Given the description of an element on the screen output the (x, y) to click on. 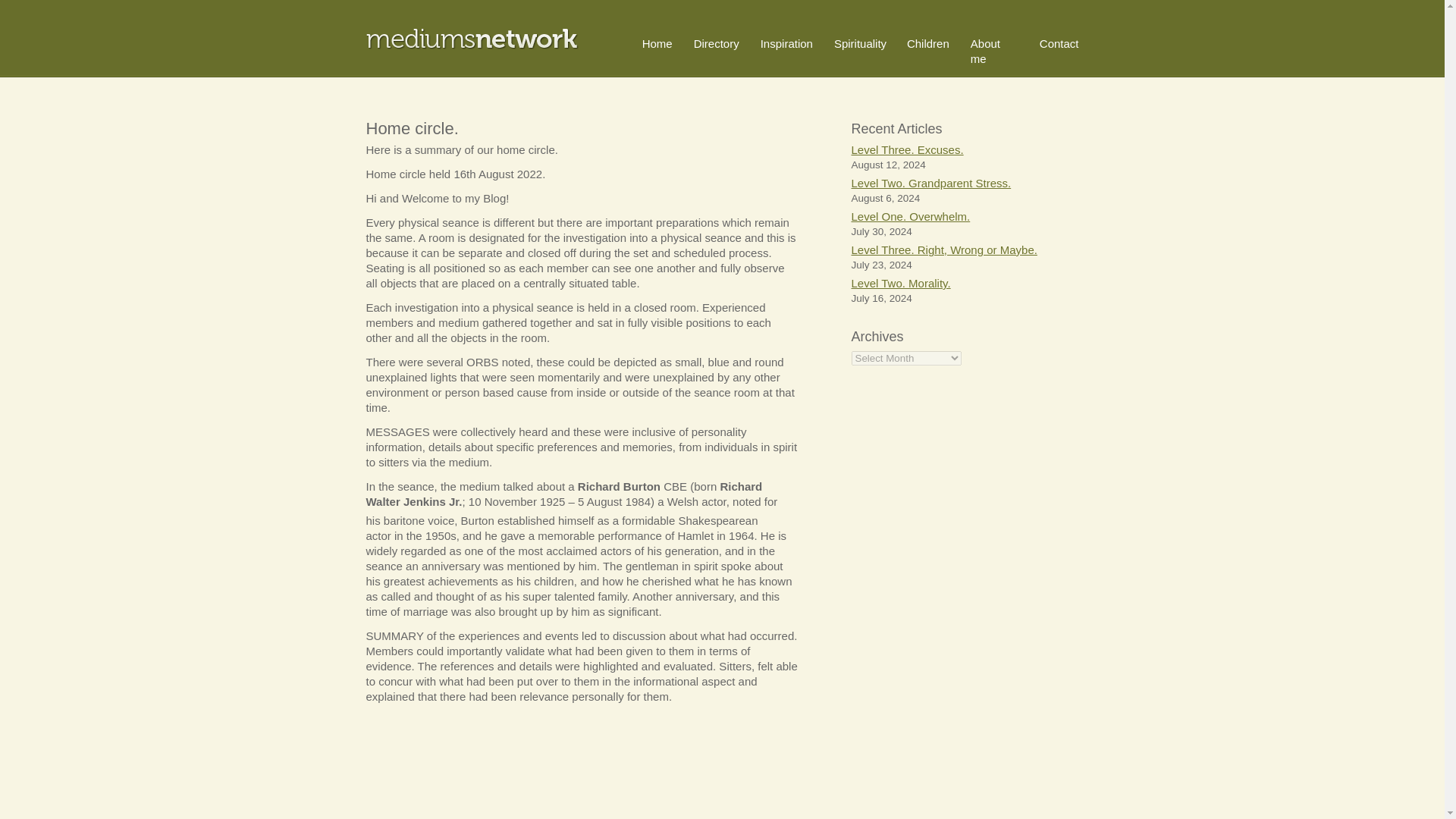
Contact (1058, 42)
Level Three. Excuses. (906, 149)
Spirituality (860, 42)
Level Two. Morality. (900, 282)
Mediums Network (472, 37)
About me (985, 50)
Home (657, 42)
Directory (716, 42)
Children (928, 42)
Inspiration (786, 42)
